Given the description of an element on the screen output the (x, y) to click on. 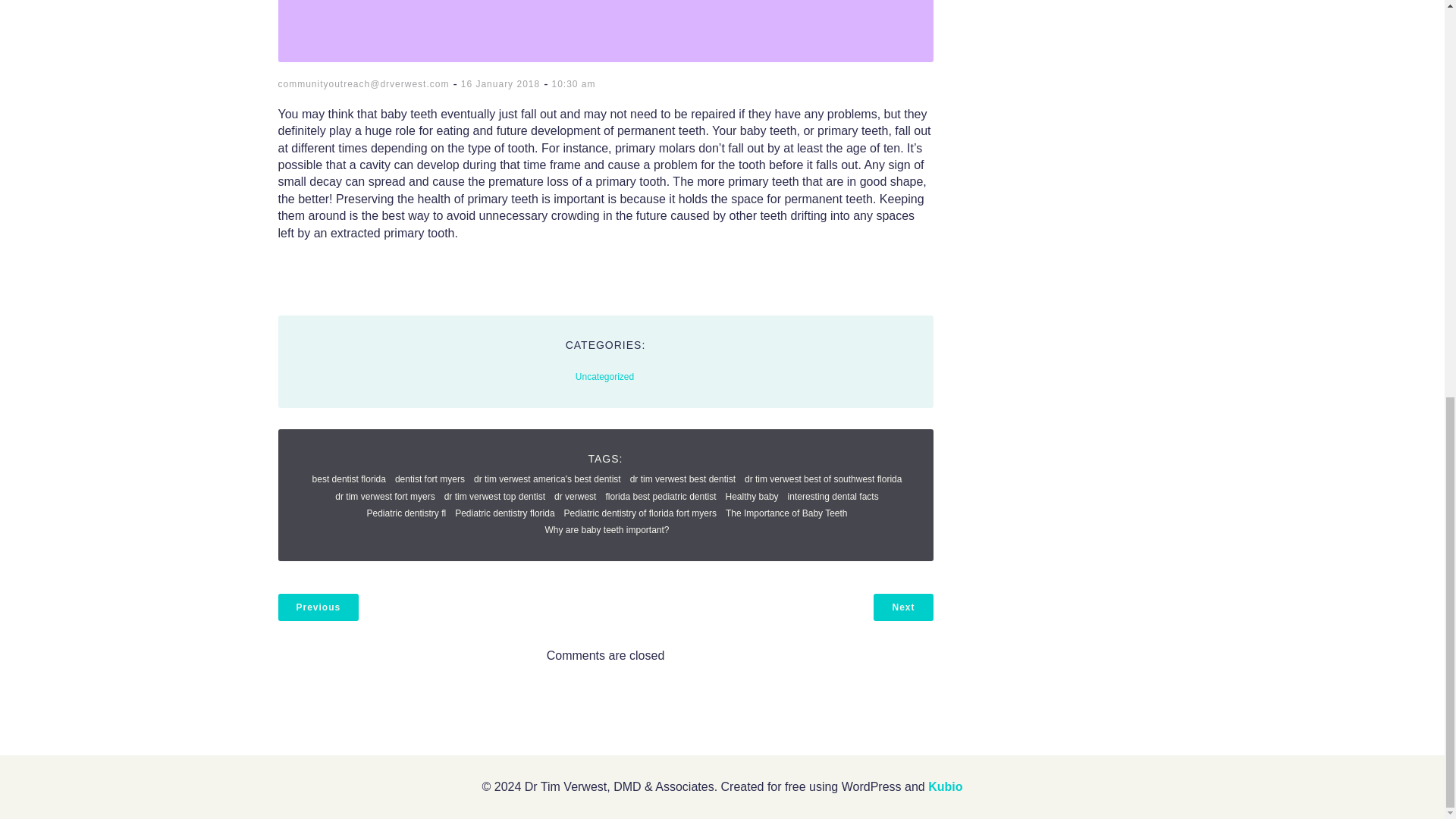
10:30 am (573, 83)
best dentist florida (348, 479)
dentist fort myers (429, 479)
dr tim verwest america's best dentist (547, 479)
Why are baby teeth important? (606, 529)
dr verwest (574, 496)
dr tim verwest best dentist (682, 479)
dr tim verwest best of southwest florida (822, 479)
Kubio (945, 786)
interesting dental facts (833, 496)
